Given the description of an element on the screen output the (x, y) to click on. 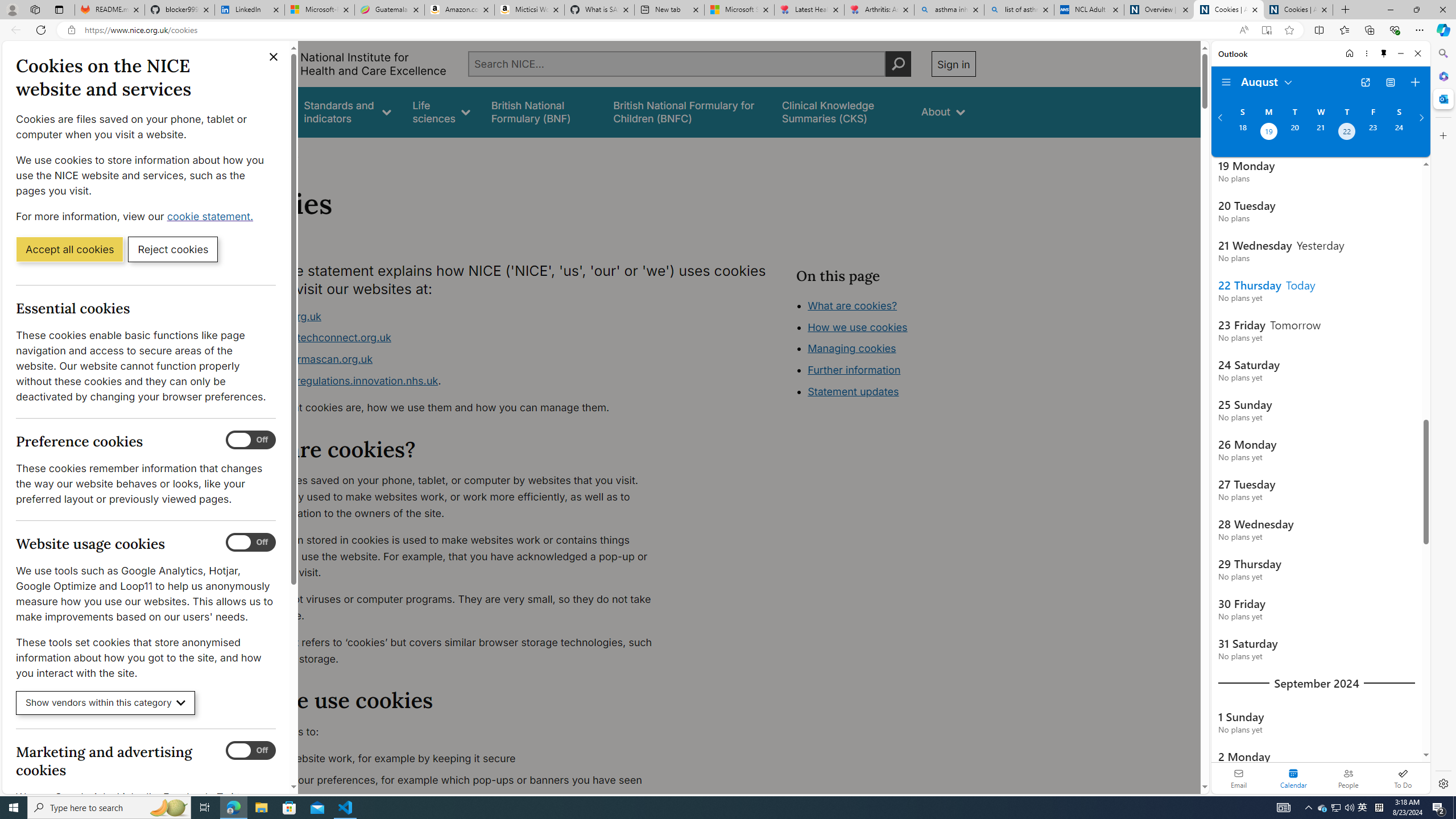
About (283, 152)
Managing cookies (852, 348)
Close Customize pane (1442, 135)
Statement updates (853, 391)
cookie statement. (Opens in a new window) (211, 215)
www.ukpharmascan.org.uk (305, 359)
Folder navigation (1225, 82)
